Given the description of an element on the screen output the (x, y) to click on. 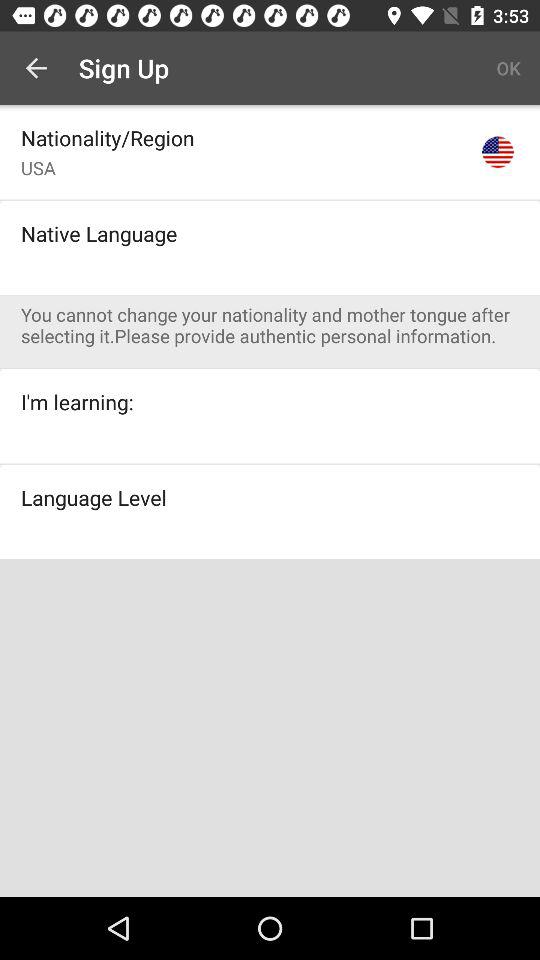
turn on the i'm learning: (77, 401)
